Given the description of an element on the screen output the (x, y) to click on. 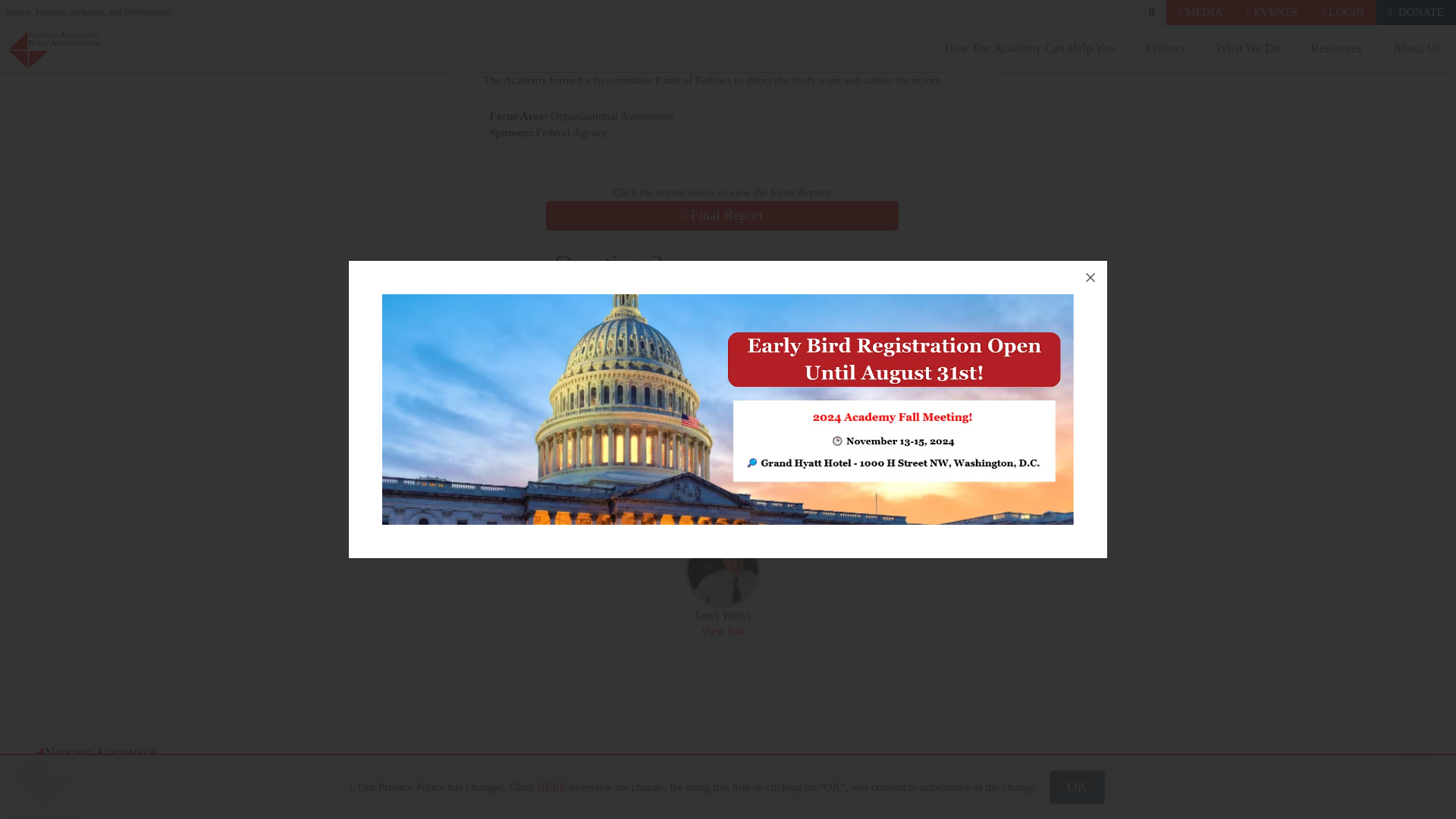
OK (1077, 211)
HERE (551, 211)
Final Report (722, 215)
